Given the description of an element on the screen output the (x, y) to click on. 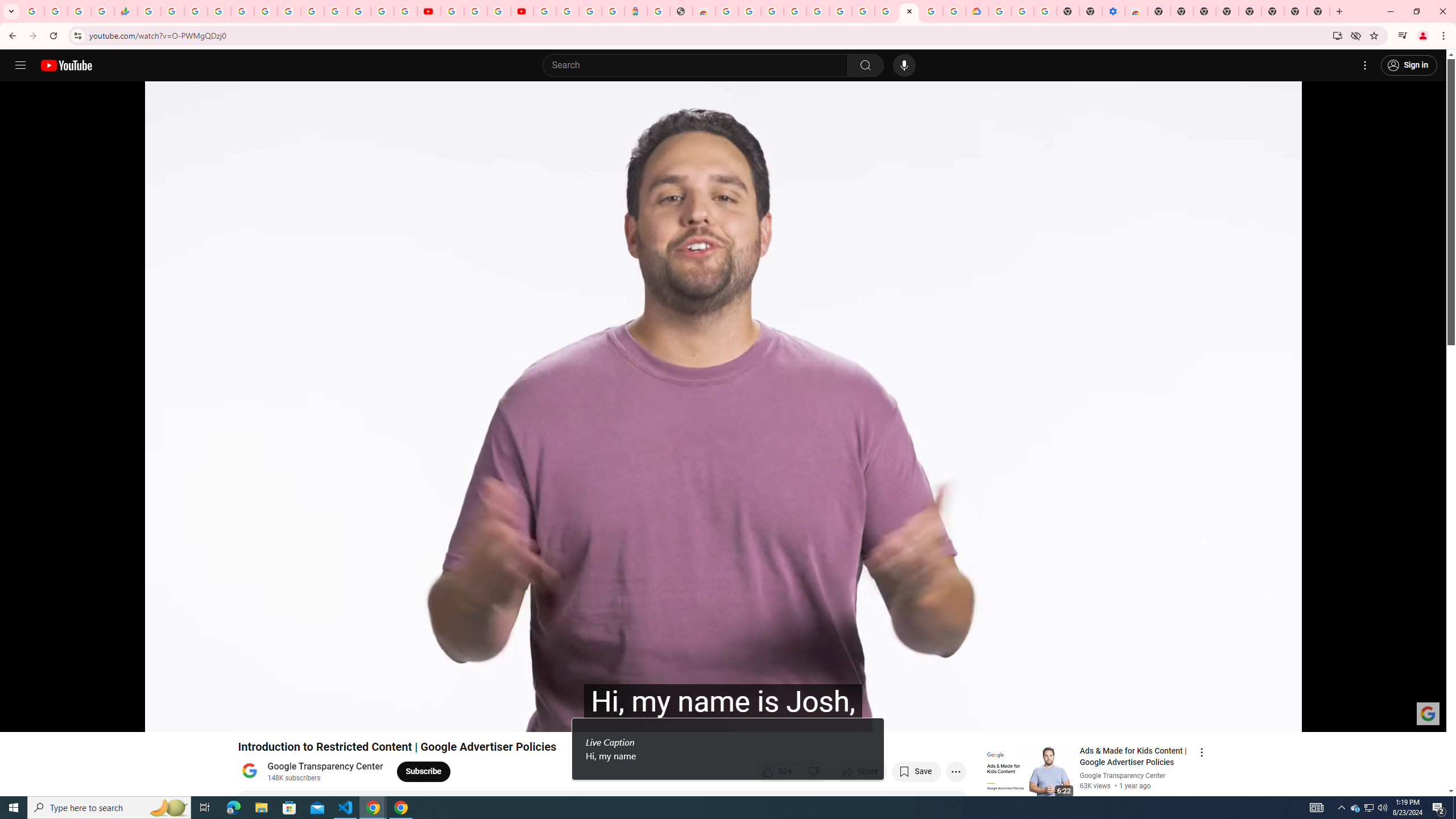
Seek slider (723, 703)
Turn cookies on or off - Computer - Google Account Help (1045, 11)
Chrome Web Store - Household (703, 11)
More actions (955, 771)
Settings - Accessibility (1113, 11)
Guide (20, 65)
Chrome Web Store - Accessibility extensions (1136, 11)
Play (k) (20, 718)
Content Creator Programs & Opportunities - YouTube Creators (521, 11)
Next (SHIFT+n) (46, 718)
Settings (1365, 65)
